Given the description of an element on the screen output the (x, y) to click on. 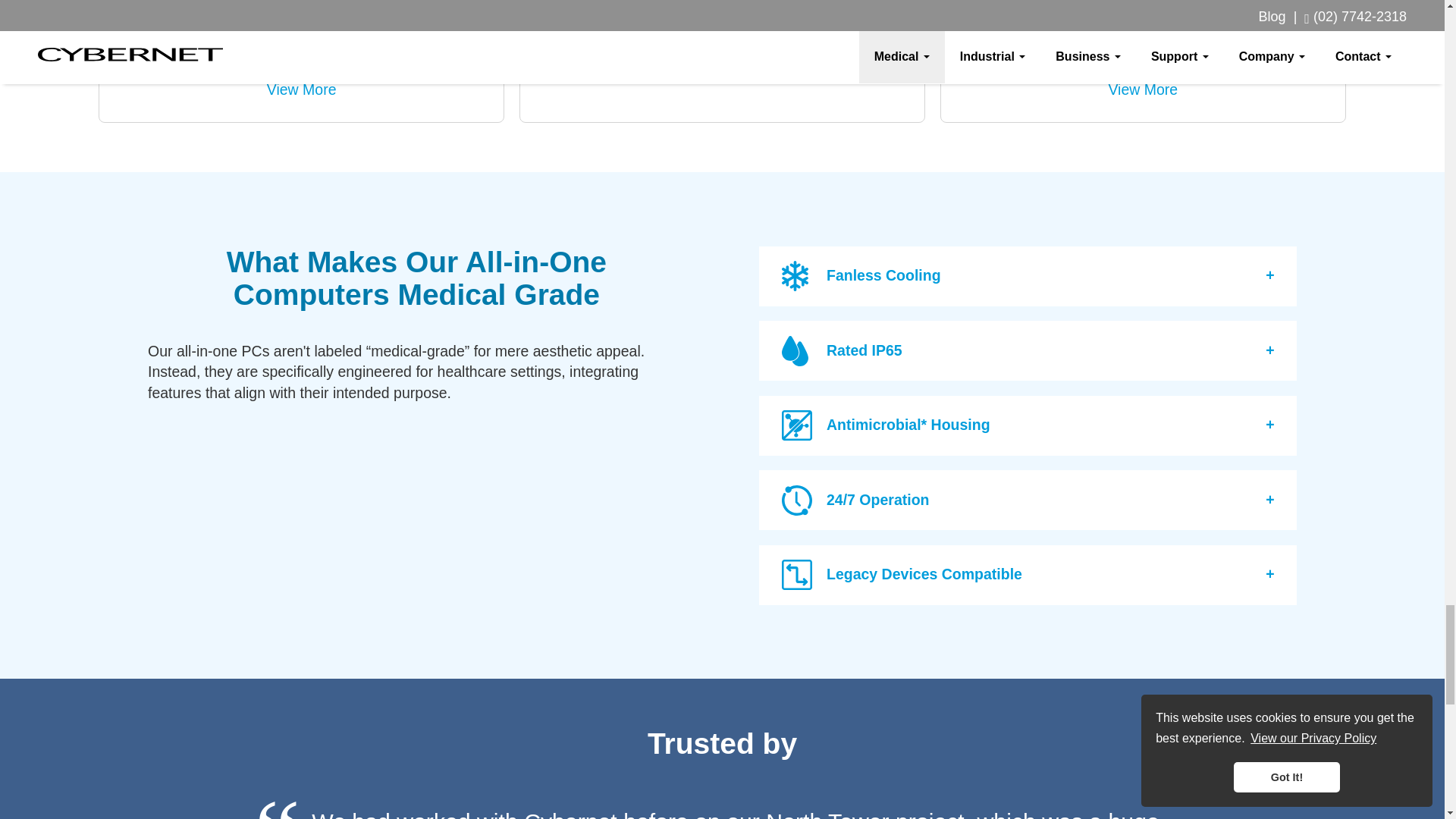
View More (722, 68)
View More (1142, 89)
View More (301, 89)
